Given the description of an element on the screen output the (x, y) to click on. 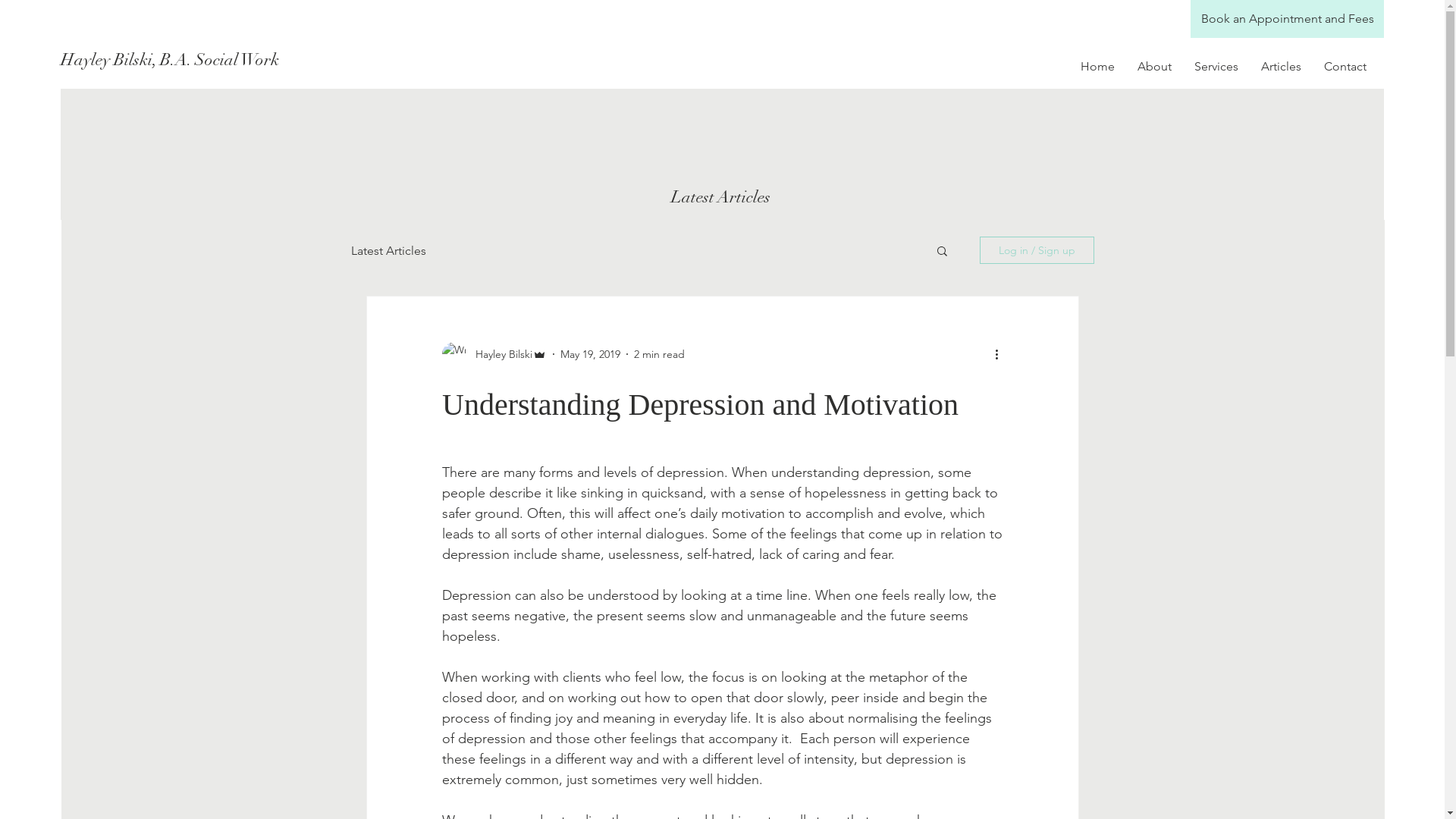
Latest Articles Element type: text (388, 249)
Book an Appointment and Fees Element type: text (1286, 18)
Home Element type: text (1097, 66)
About Element type: text (1154, 66)
Services Element type: text (1216, 66)
Log in / Sign up Element type: text (1036, 249)
Articles Element type: text (1280, 66)
Contact Element type: text (1344, 66)
